Given the description of an element on the screen output the (x, y) to click on. 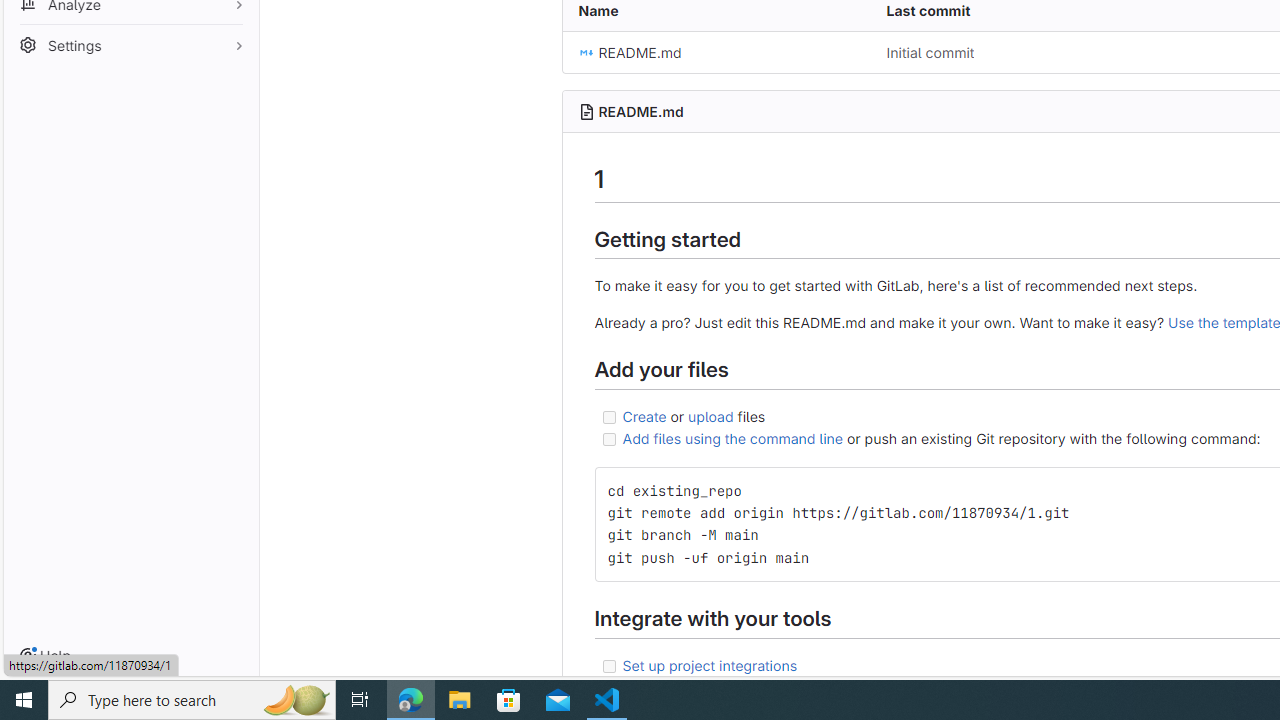
Initial commit (930, 52)
README.md (715, 52)
README.md (640, 111)
Class: s16 position-relative file-icon (586, 52)
upload (710, 415)
Class: task-list-item-checkbox (608, 665)
Add files using the command line (732, 438)
Set up project integrations (709, 664)
Create (644, 415)
Initial commit (1024, 52)
